Given the description of an element on the screen output the (x, y) to click on. 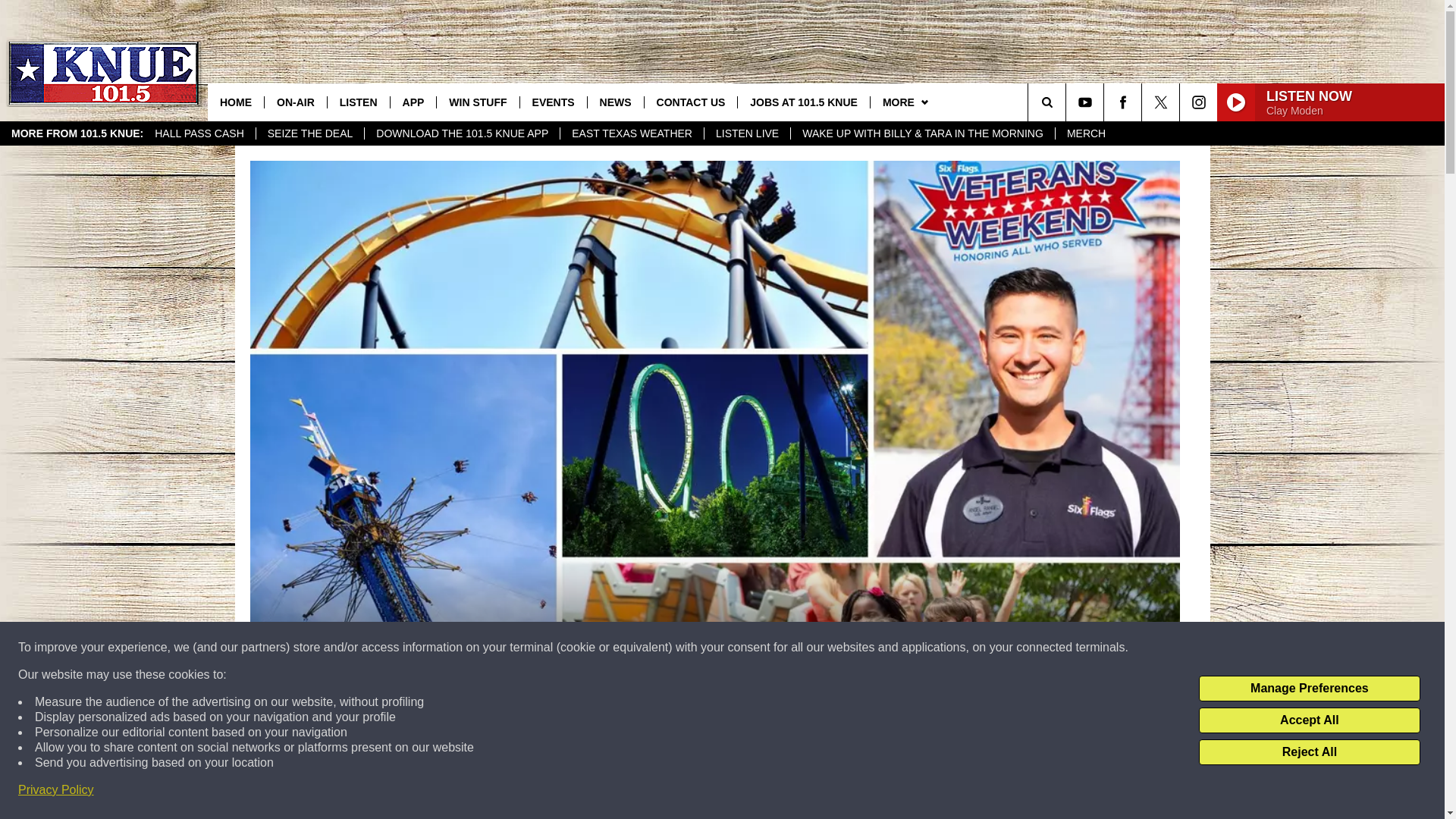
MERCH (1085, 133)
Manage Preferences (1309, 688)
APP (413, 102)
ON-AIR (294, 102)
LISTEN (358, 102)
DOWNLOAD THE 101.5 KNUE APP (461, 133)
SEARCH (1068, 102)
HALL PASS CASH (199, 133)
LISTEN LIVE (746, 133)
Share on Twitter (912, 791)
HOME (235, 102)
EAST TEXAS WEATHER (631, 133)
SEIZE THE DEAL (310, 133)
Accept All (1309, 720)
Reject All (1309, 751)
